Given the description of an element on the screen output the (x, y) to click on. 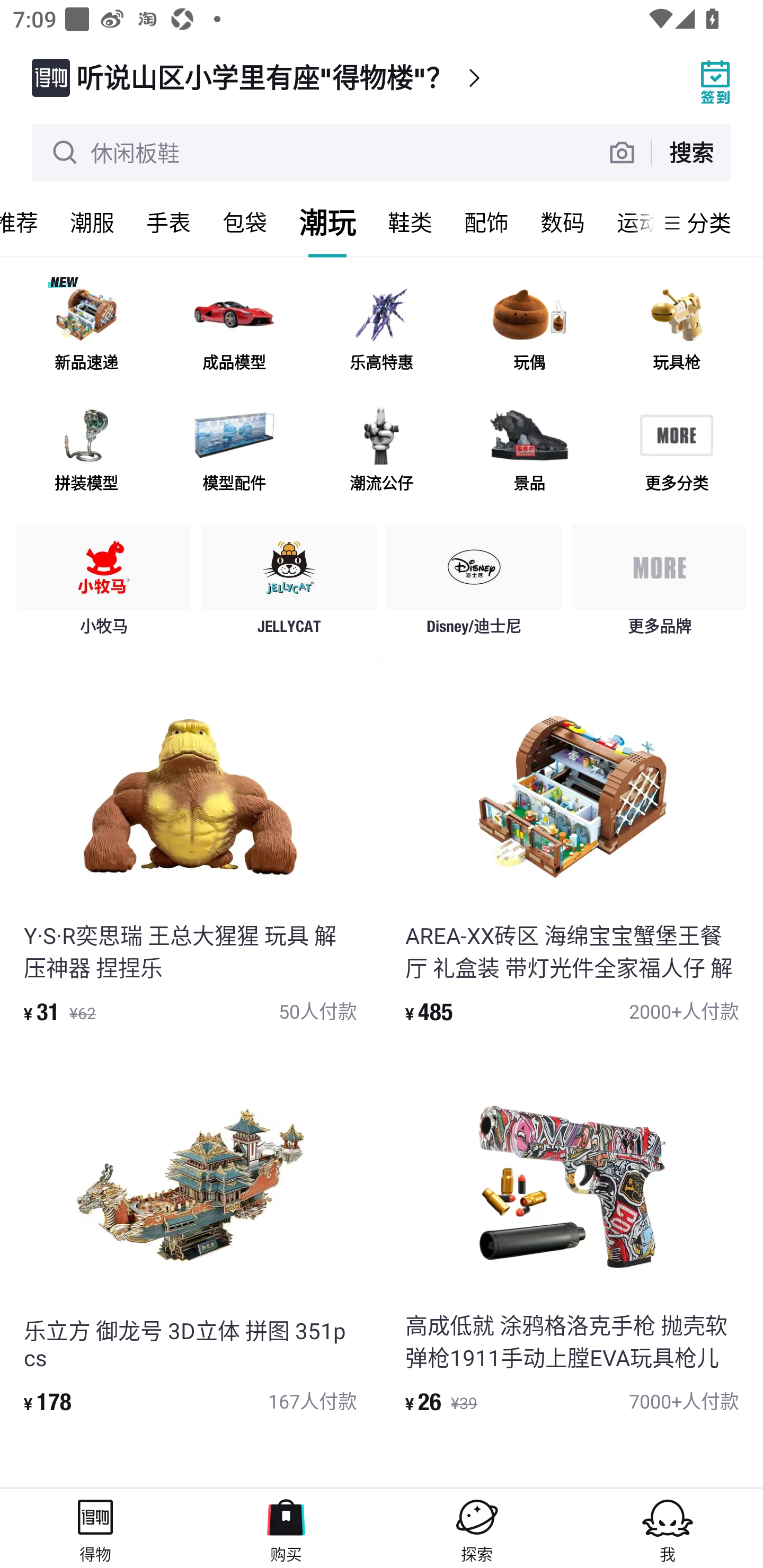
搜索 (690, 152)
潮服 (92, 222)
手表 (168, 222)
包袋 (244, 222)
潮玩 (327, 222)
鞋类 (410, 222)
配饰 (486, 222)
数码 (562, 222)
分类 (708, 222)
新品速递 (86, 329)
成品模型 (233, 329)
乐高特惠 (381, 329)
玩偶 (528, 329)
玩具枪 (676, 329)
拼装模型 (86, 450)
模型配件 (233, 450)
潮流公仔 (381, 450)
景品 (528, 450)
更多分类 (676, 450)
小牧马 (103, 583)
JELLYCAT (288, 583)
Disney/迪士尼 (473, 583)
更多品牌 (658, 583)
product_item 乐立方 御龙号 3D立体 拼图 351p
cs ¥ 178 167人付款 (190, 1242)
得物 (95, 1528)
购买 (285, 1528)
探索 (476, 1528)
我 (667, 1528)
